Given the description of an element on the screen output the (x, y) to click on. 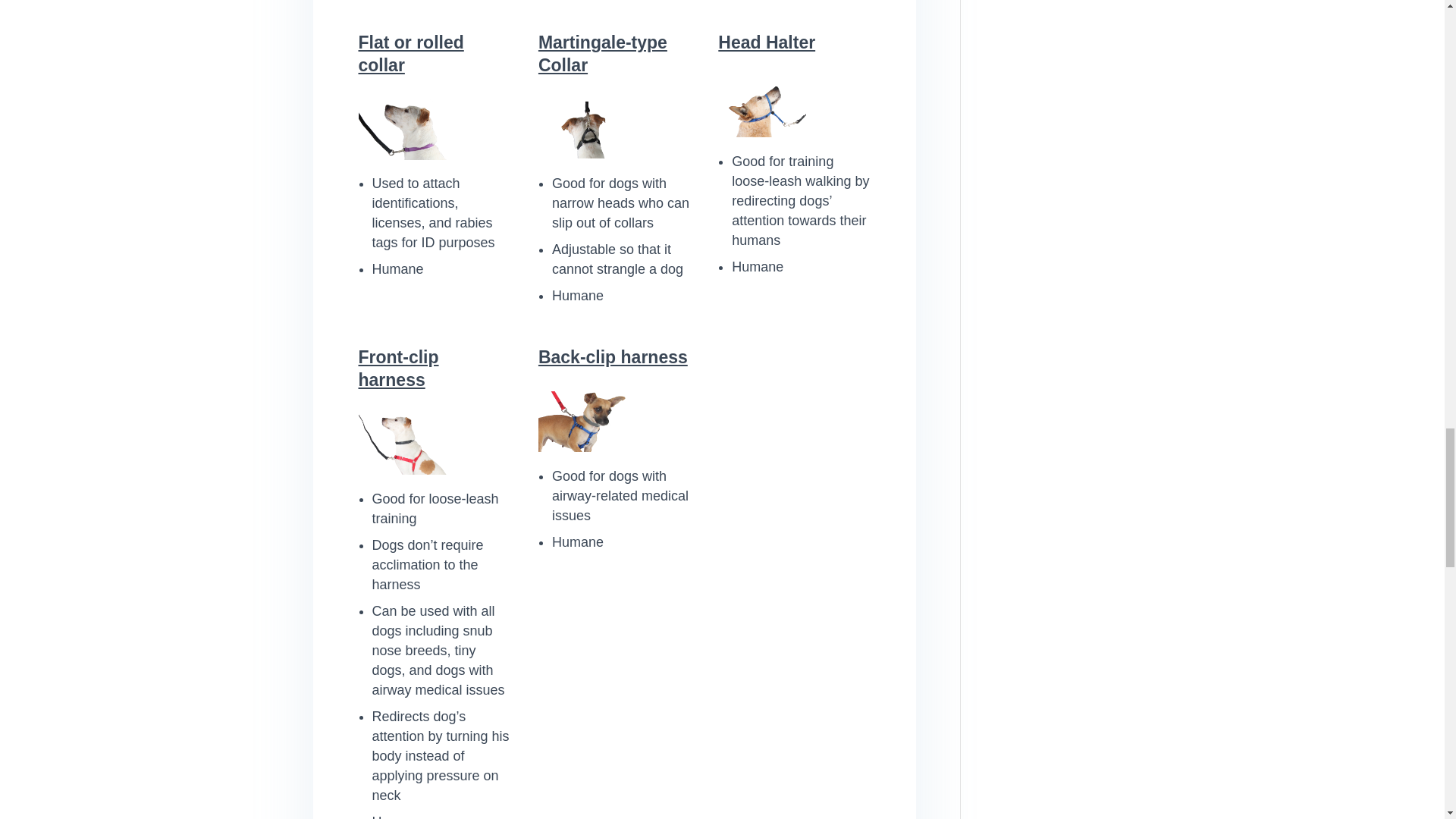
prongs-back-clip-harness (582, 421)
prongs-flat (401, 129)
prongs-martingale-collar (582, 129)
